Given the description of an element on the screen output the (x, y) to click on. 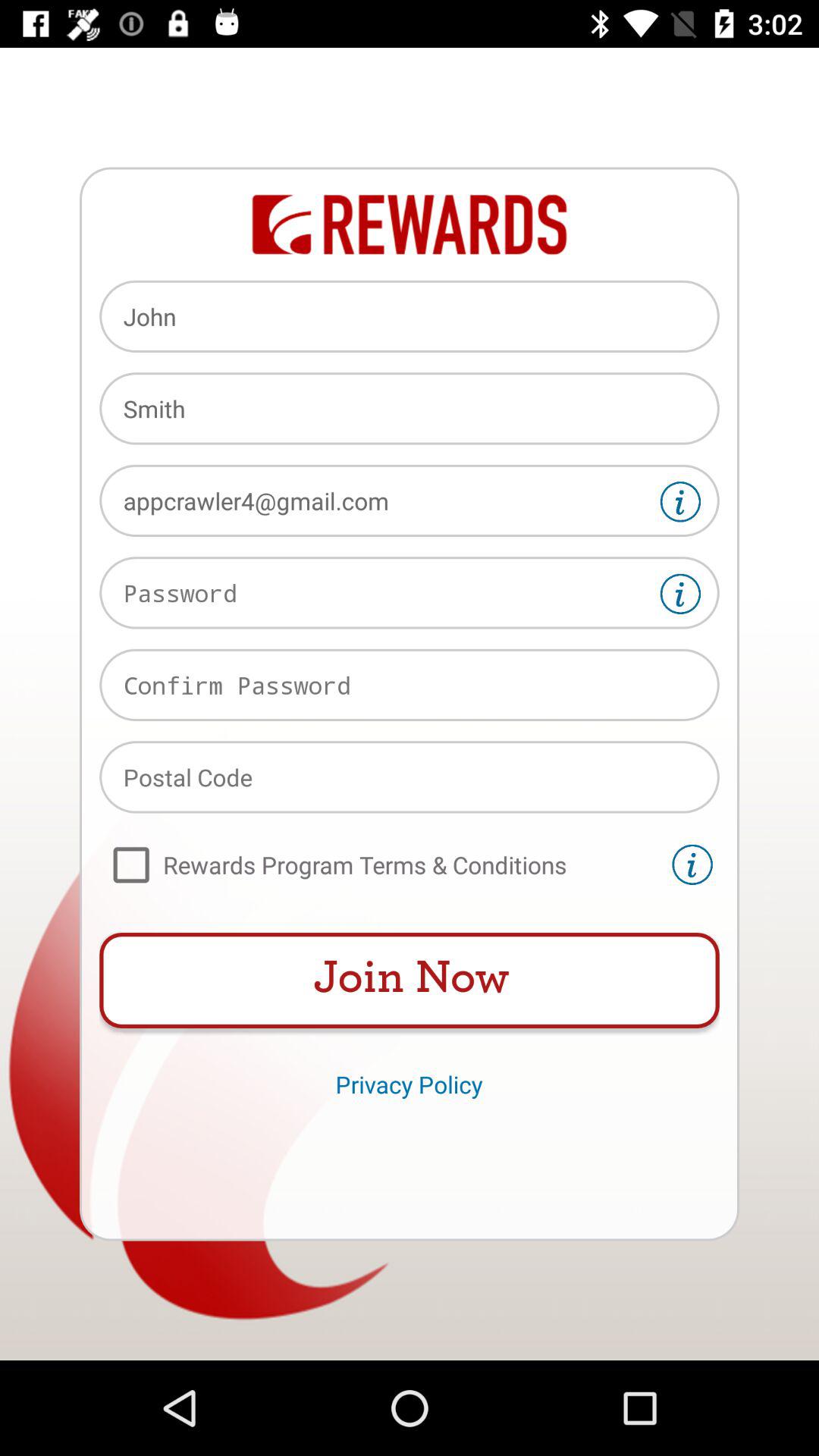
launch rewards program terms (382, 864)
